Given the description of an element on the screen output the (x, y) to click on. 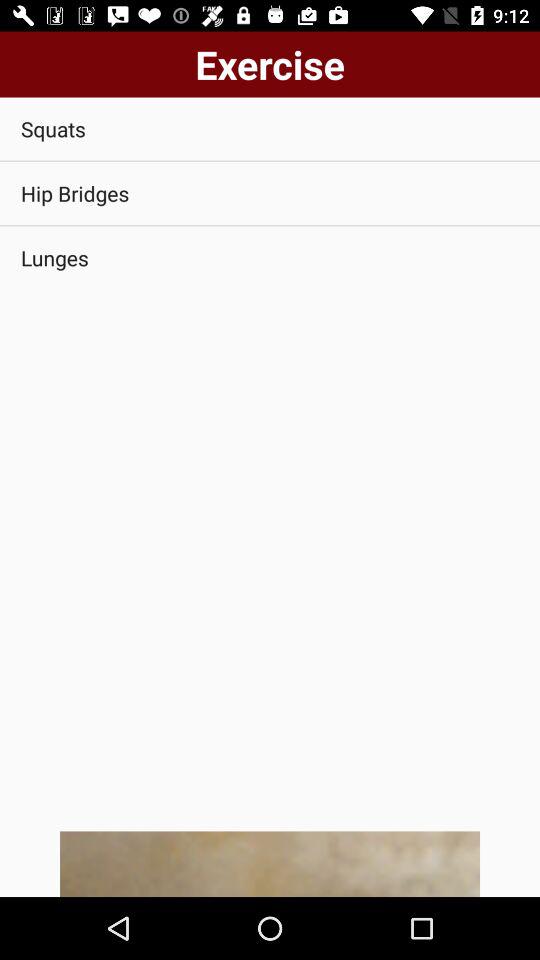
tap lunges app (270, 257)
